Given the description of an element on the screen output the (x, y) to click on. 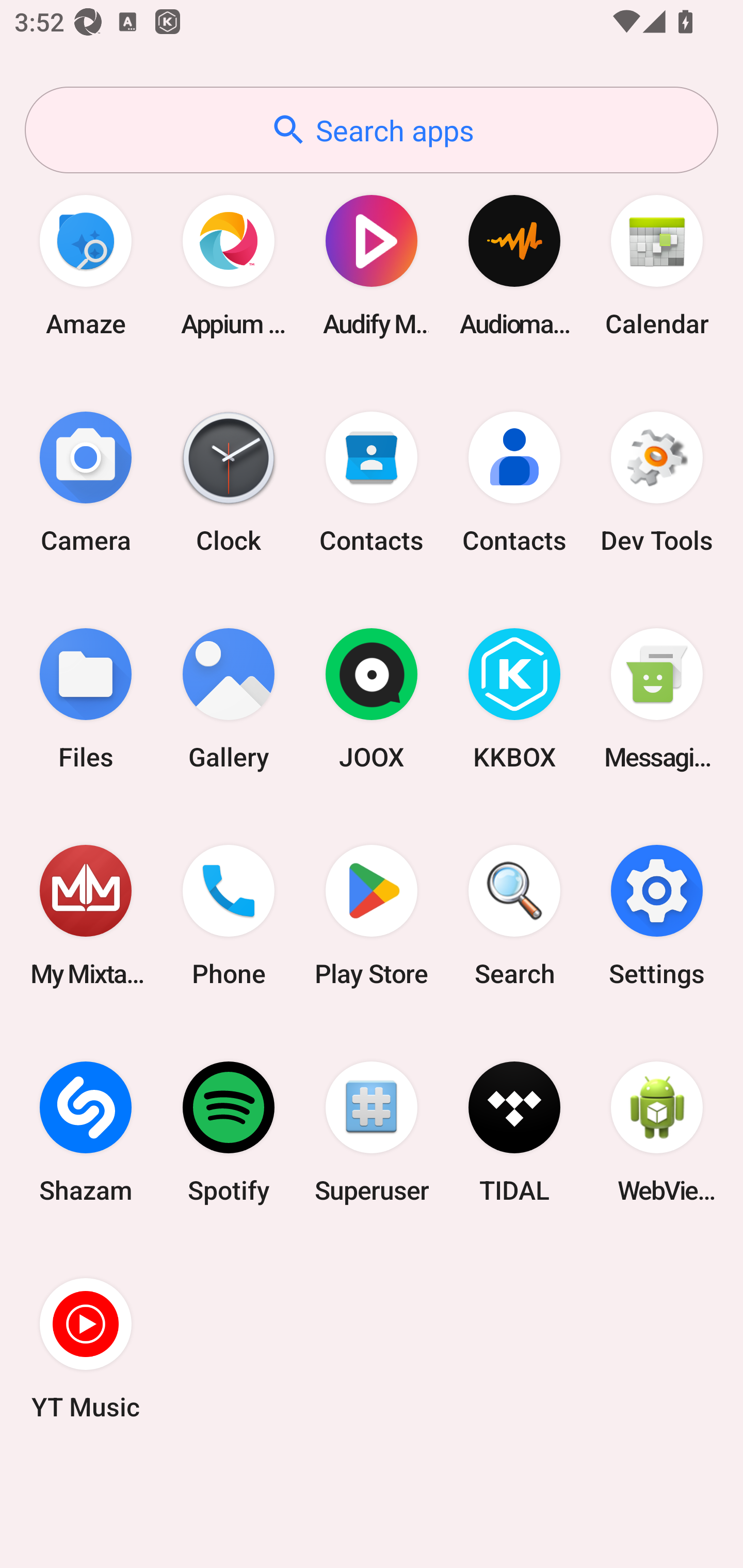
  Search apps (371, 130)
Amaze (85, 264)
Appium Settings (228, 264)
Audify Music Player (371, 264)
Audio­mack (514, 264)
Calendar (656, 264)
Camera (85, 482)
Clock (228, 482)
Contacts (371, 482)
Contacts (514, 482)
Dev Tools (656, 482)
Files (85, 699)
Gallery (228, 699)
JOOX (371, 699)
KKBOX (514, 699)
Messaging (656, 699)
My Mixtapez (85, 915)
Phone (228, 915)
Play Store (371, 915)
Search (514, 915)
Settings (656, 915)
Shazam (85, 1131)
Spotify (228, 1131)
Superuser (371, 1131)
TIDAL (514, 1131)
WebView Browser Tester (656, 1131)
YT Music (85, 1348)
